Given the description of an element on the screen output the (x, y) to click on. 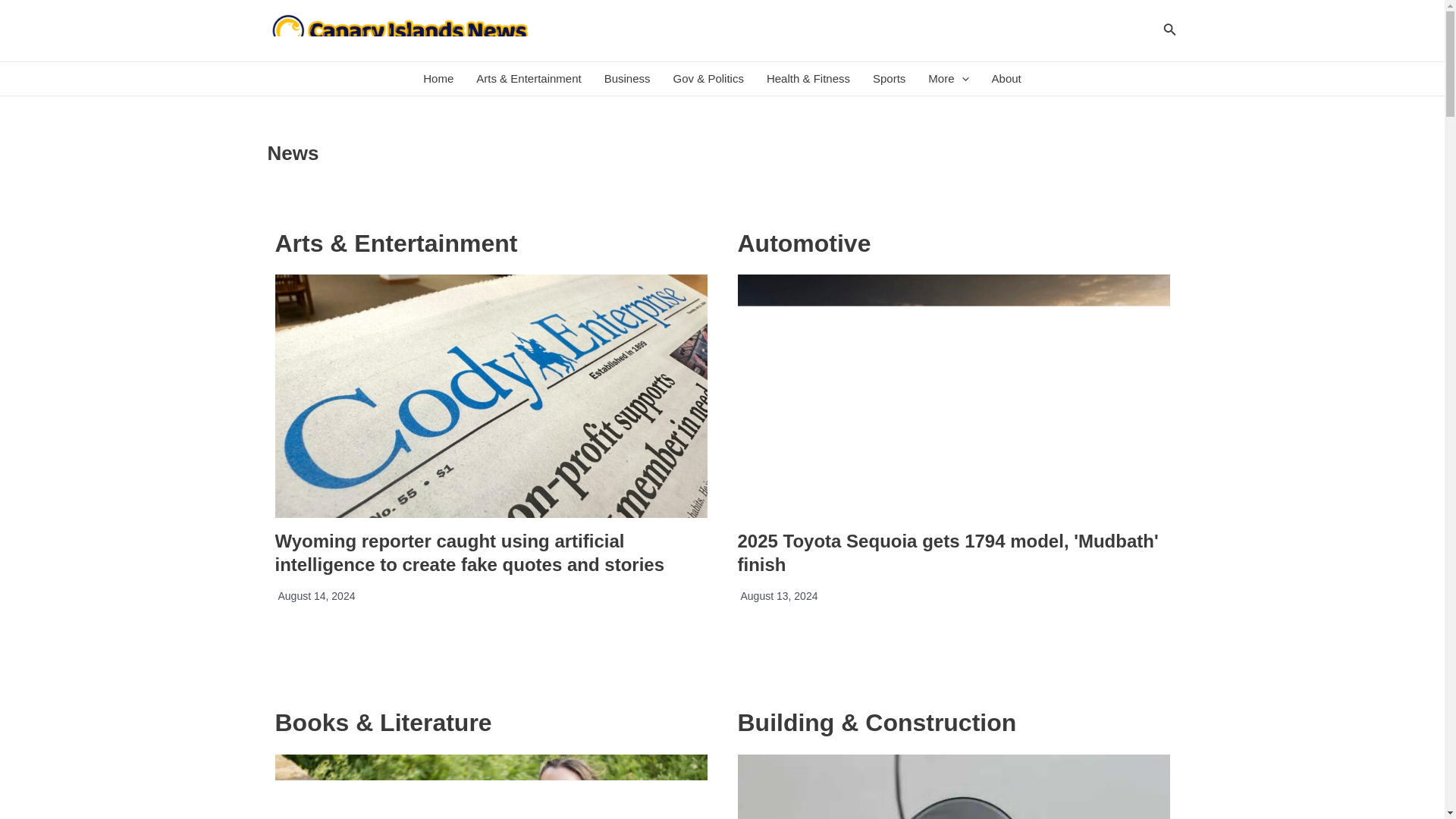
Home (438, 78)
More (948, 78)
Sports (889, 78)
Business (627, 78)
About (1005, 78)
